Given the description of an element on the screen output the (x, y) to click on. 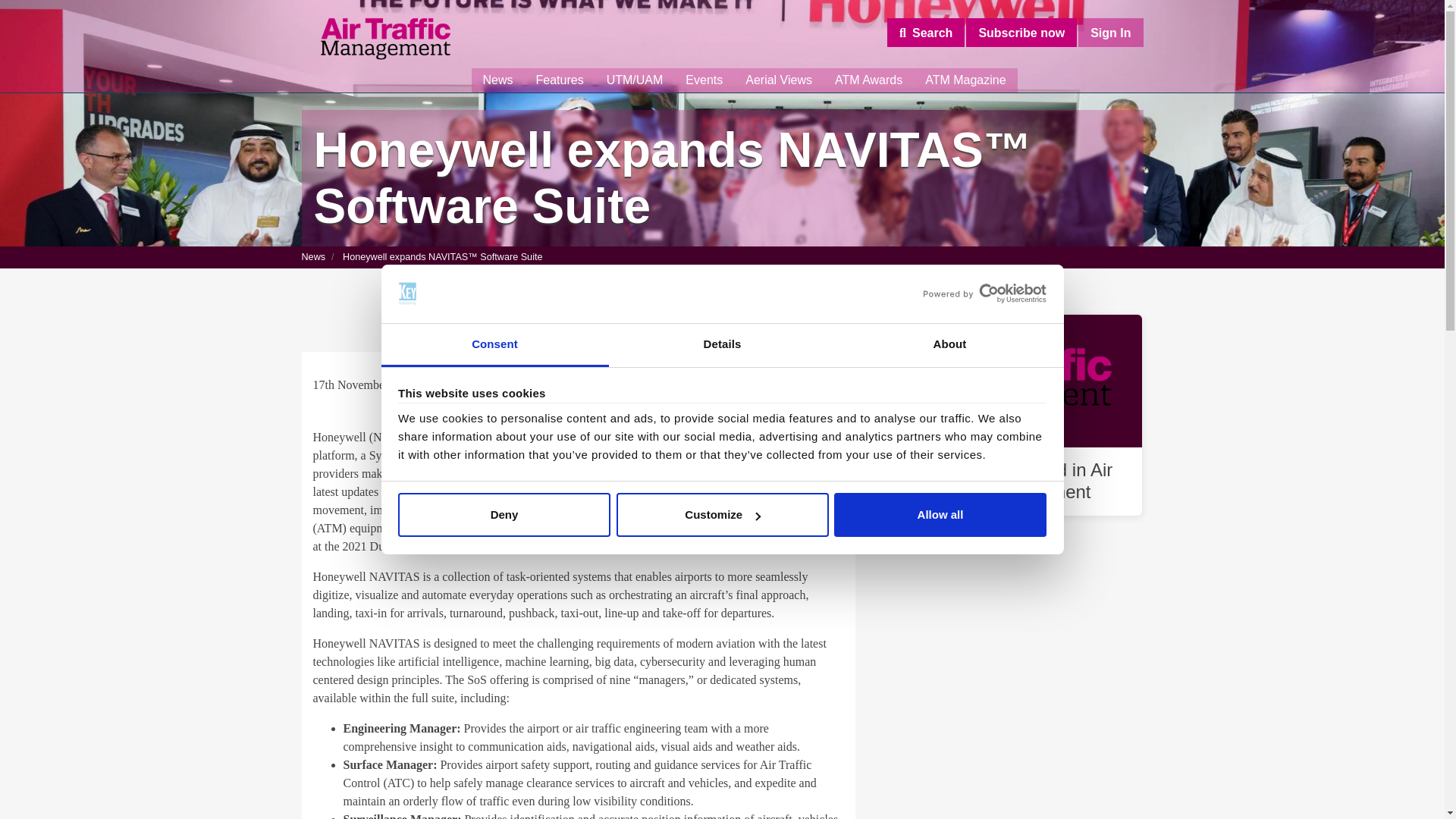
Sign into the site (1110, 32)
About (948, 344)
Consent (494, 344)
Home (384, 39)
Details (721, 344)
